Given the description of an element on the screen output the (x, y) to click on. 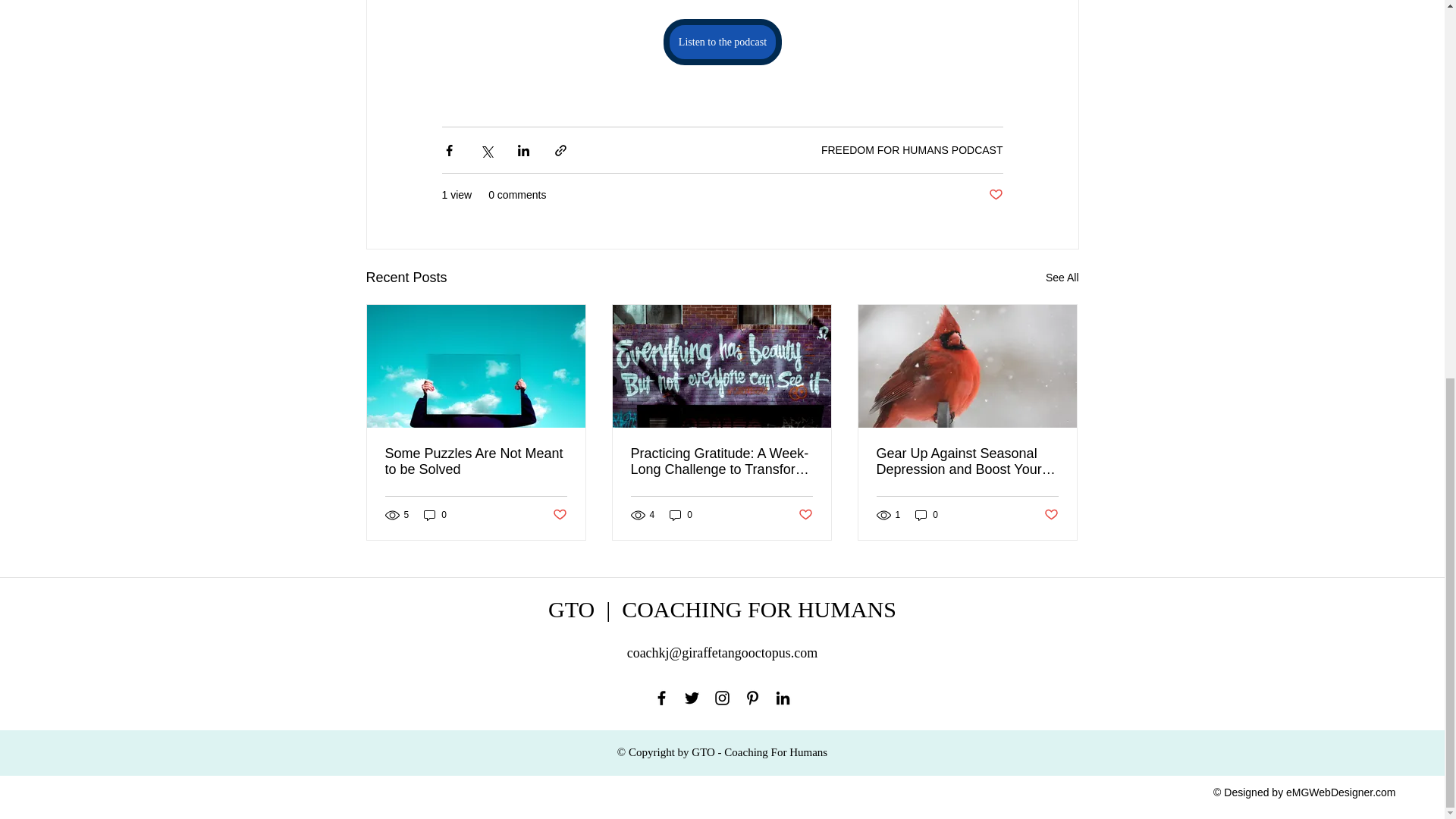
Post not marked as liked (804, 514)
0 (926, 514)
Listen to the podcast (721, 41)
Post not marked as liked (995, 195)
Some Puzzles Are Not Meant to be Solved (476, 461)
Gear Up Against Seasonal Depression and Boost Your Wellbeing (967, 461)
Post not marked as liked (558, 514)
FREEDOM FOR HUMANS PODCAST (912, 150)
0 (435, 514)
See All (1061, 277)
Post not marked as liked (1050, 514)
0 (681, 514)
